Given the description of an element on the screen output the (x, y) to click on. 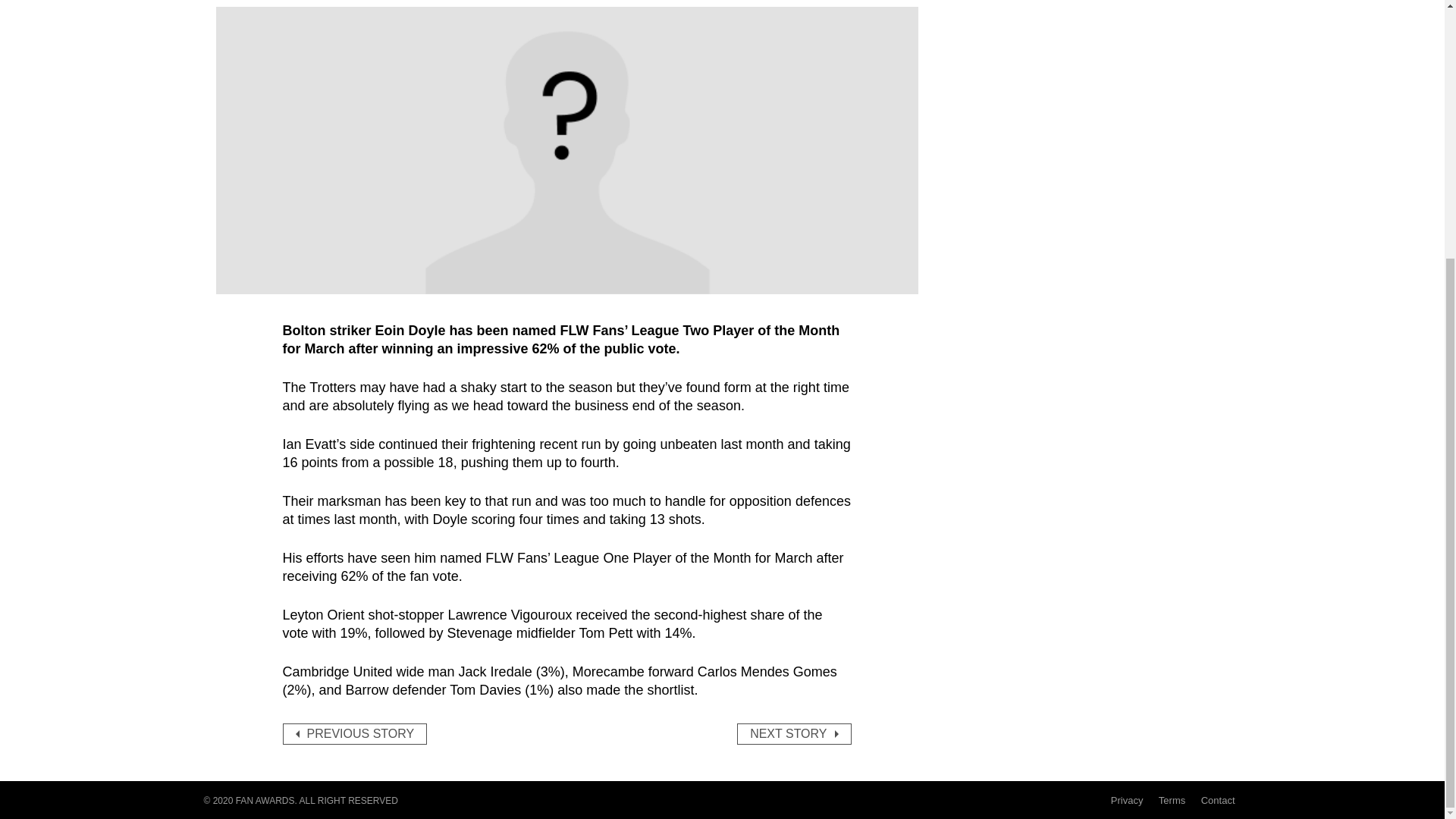
PREVIOUS STORY (354, 733)
Contact (1217, 799)
Terms (1171, 799)
Privacy (1126, 799)
NEXT STORY (793, 733)
